Given the description of an element on the screen output the (x, y) to click on. 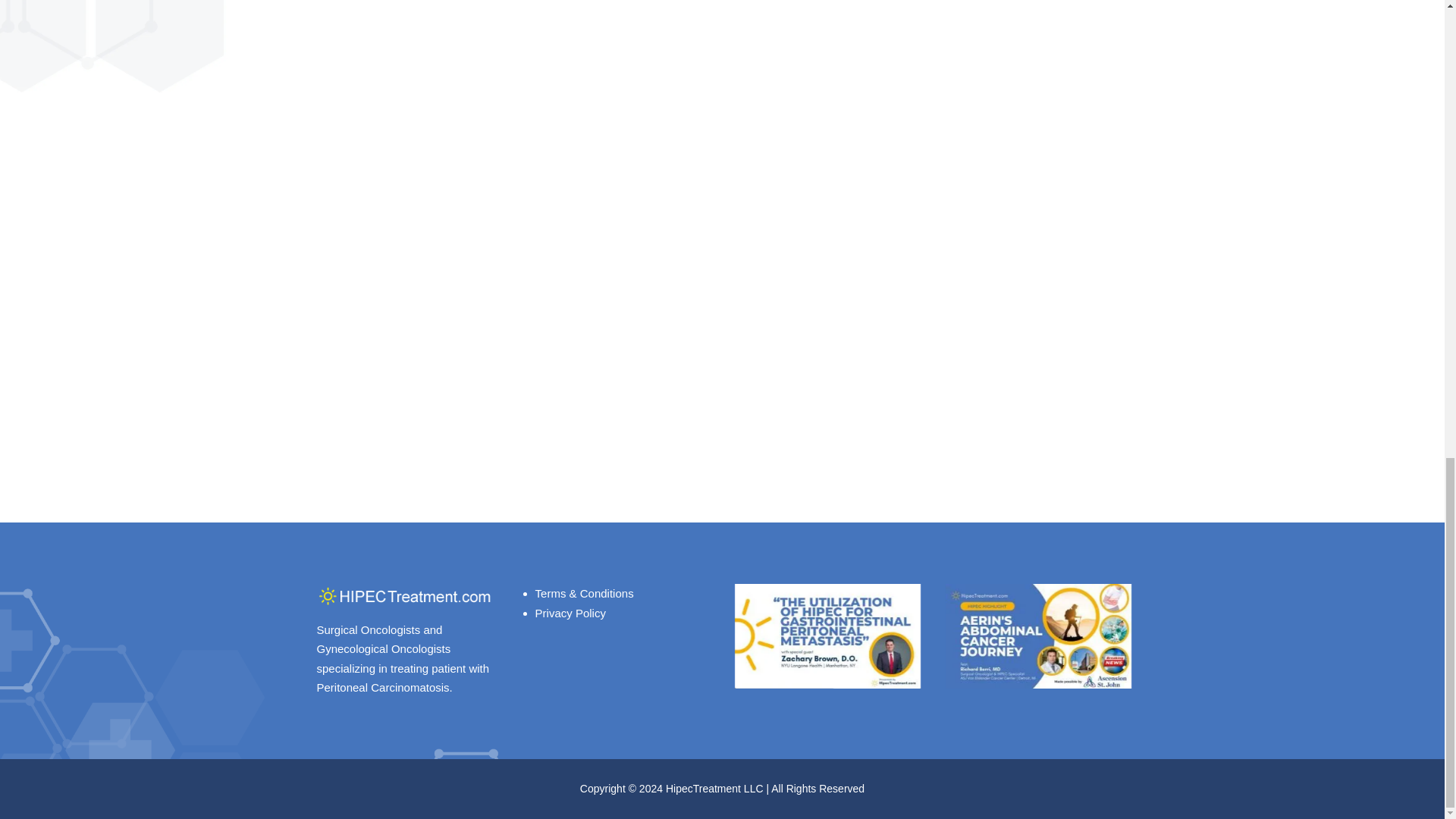
brown (828, 635)
hipectreatment-logo (406, 596)
Richard-Berri-yt-Thumb (1038, 635)
